Given the description of an element on the screen output the (x, y) to click on. 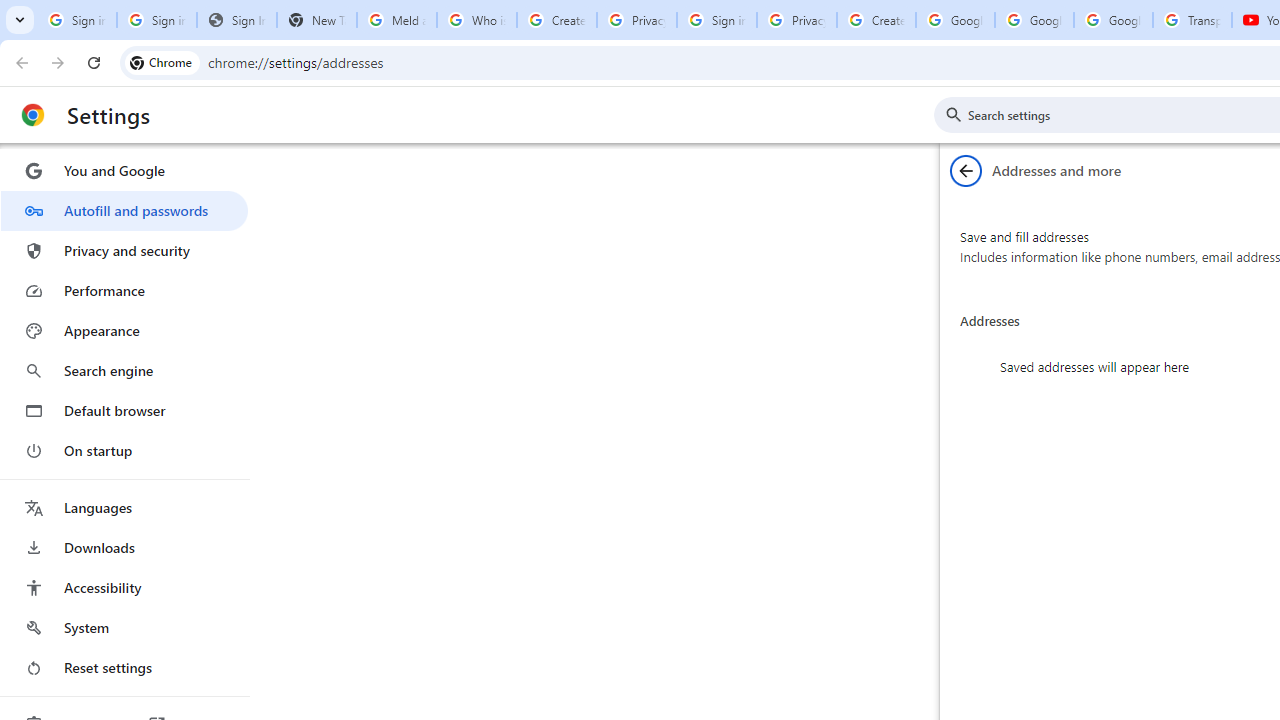
Privacy and security (124, 250)
Sign in - Google Accounts (716, 20)
Appearance (124, 331)
You and Google (124, 170)
Who is my administrator? - Google Account Help (476, 20)
Languages (124, 507)
Create your Google Account (876, 20)
Sign In - USA TODAY (236, 20)
Google Account (1113, 20)
